Given the description of an element on the screen output the (x, y) to click on. 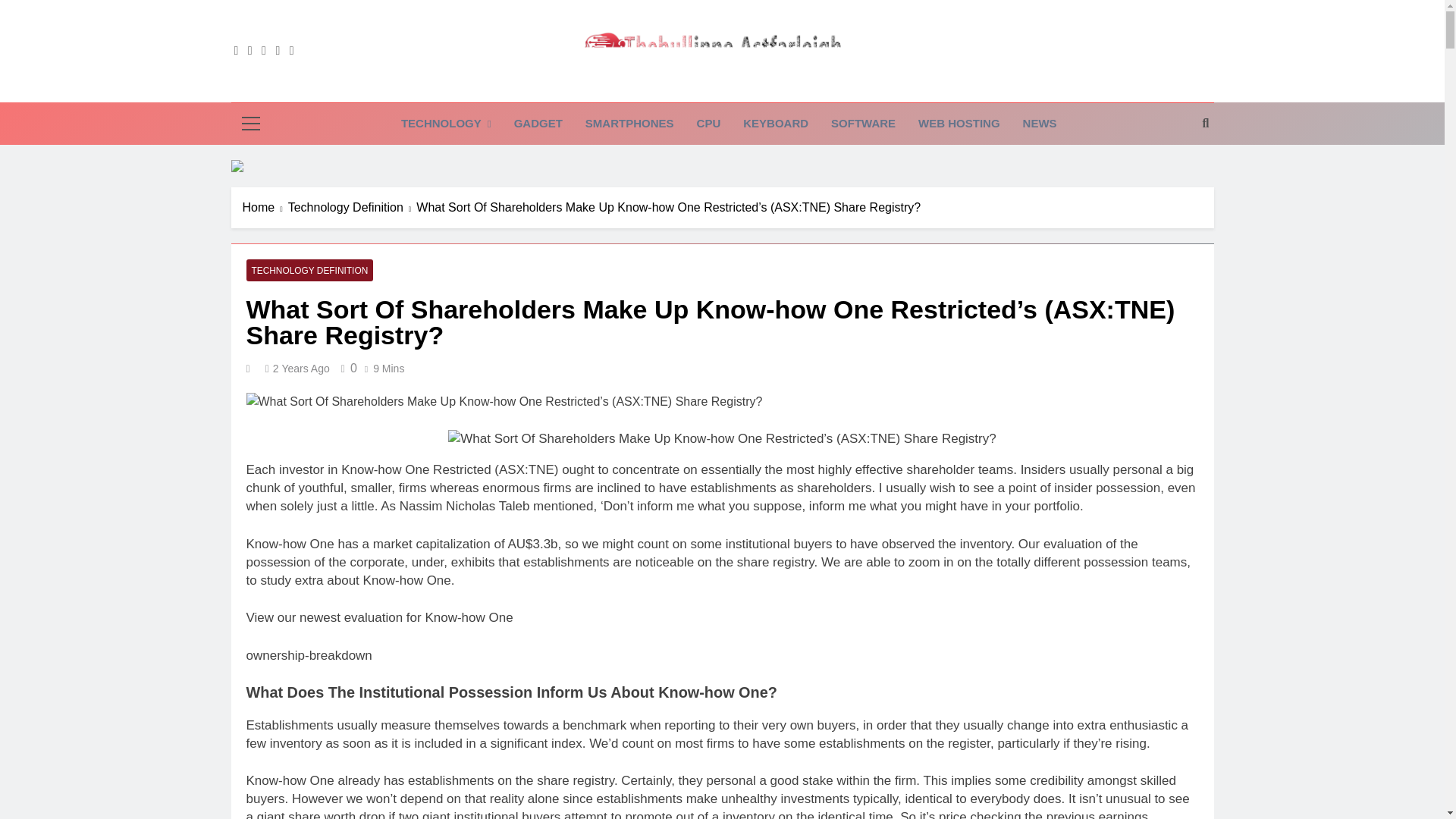
TECHNOLOGY (446, 123)
SOFTWARE (863, 123)
CPU (708, 123)
WEB HOSTING (959, 123)
GADGET (537, 123)
NEWS (1039, 123)
Thebullinne Astfarleigh (653, 88)
SMARTPHONES (629, 123)
KEYBOARD (775, 123)
